Given the description of an element on the screen output the (x, y) to click on. 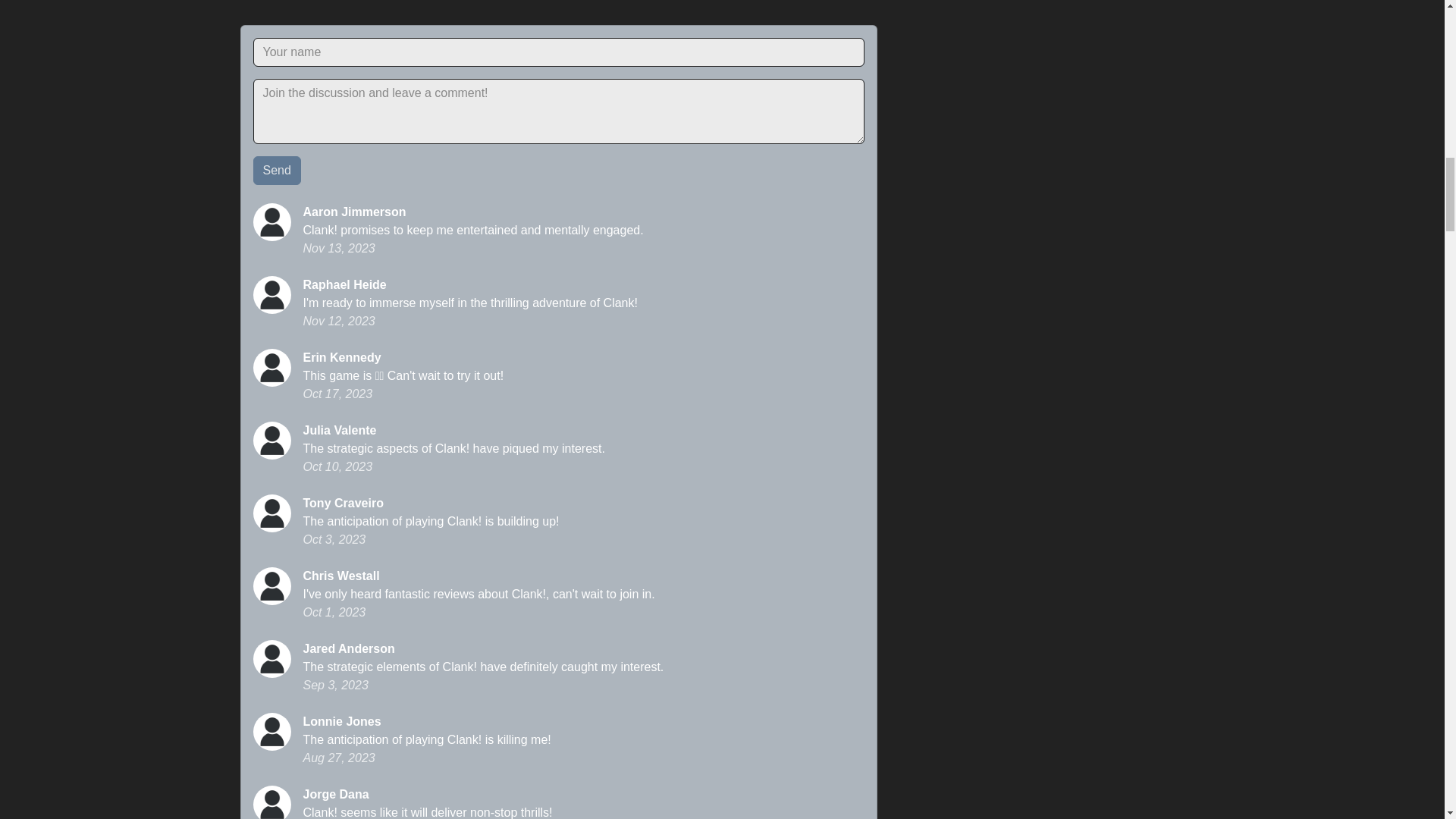
Send (277, 170)
Send (277, 170)
